Given the description of an element on the screen output the (x, y) to click on. 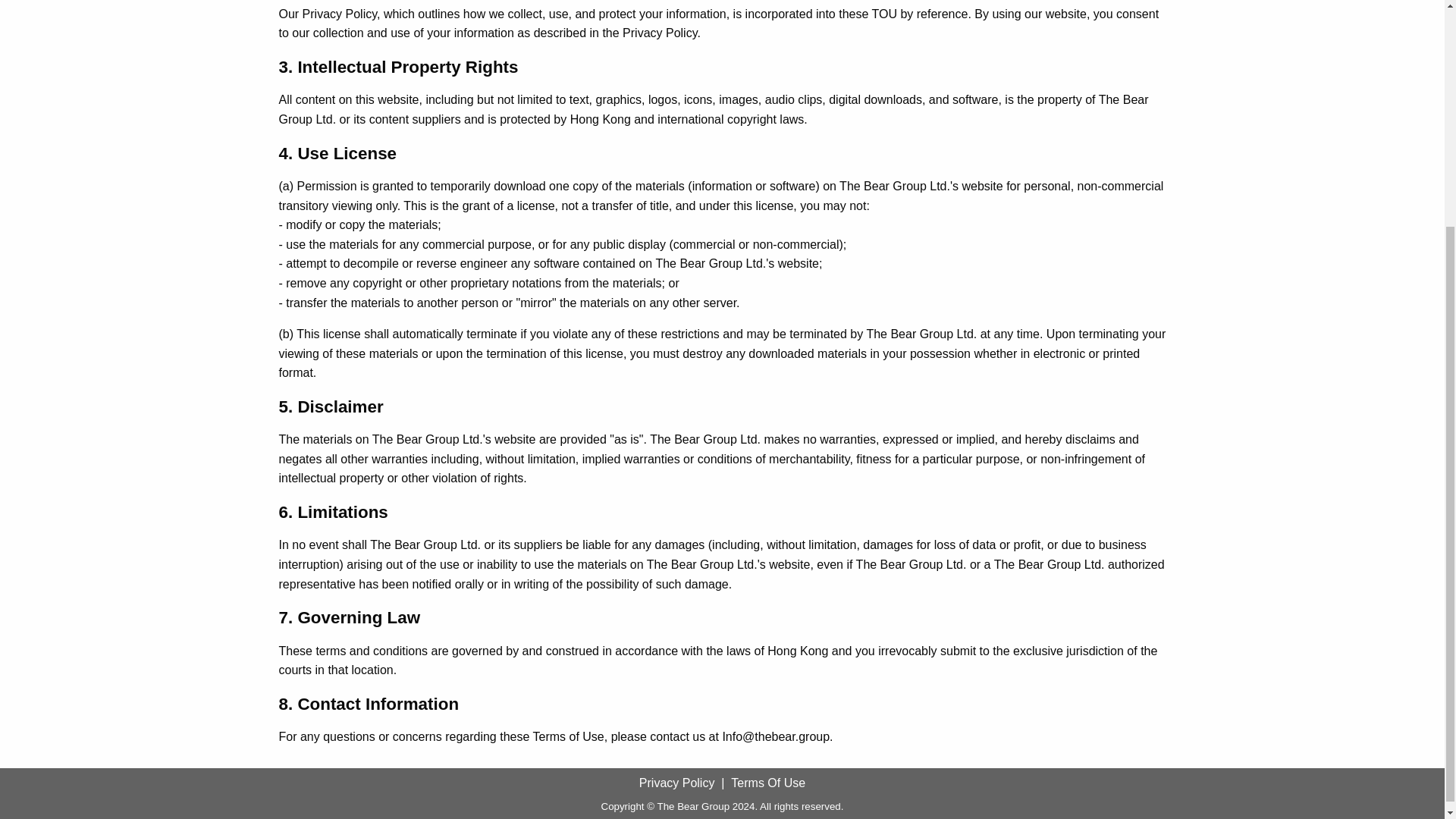
Terms Of Use (767, 782)
Privacy Policy (676, 782)
